Given the description of an element on the screen output the (x, y) to click on. 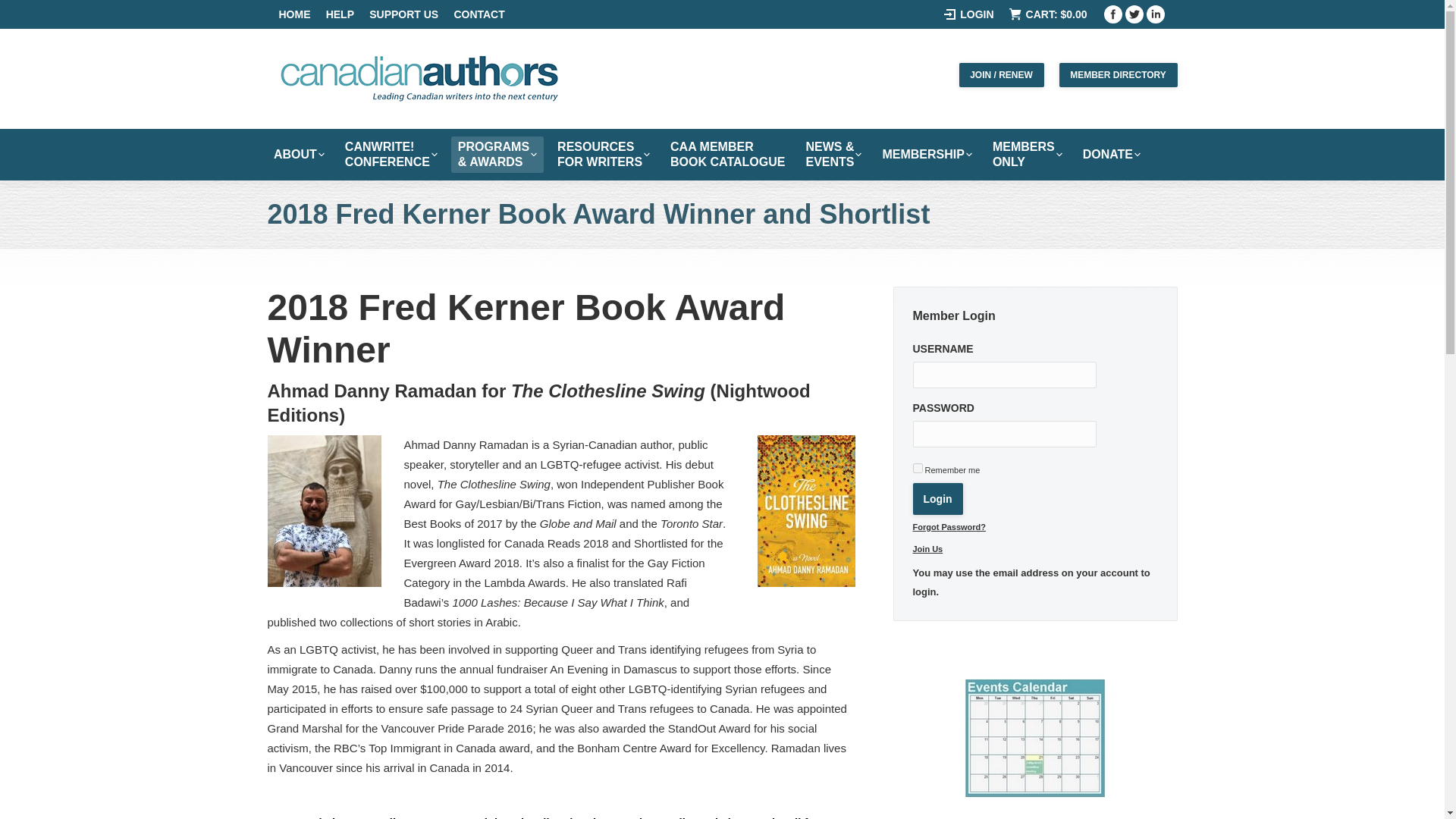
SUPPORT US (390, 154)
HOME (403, 14)
LOGIN (295, 14)
forever (967, 14)
Twitter (917, 468)
Facebook (1133, 13)
CONTACT (1112, 13)
Login (477, 14)
Linkedin (937, 499)
MEMBER DIRECTORY (1155, 13)
ABOUT (1117, 74)
HELP (298, 154)
